Given the description of an element on the screen output the (x, y) to click on. 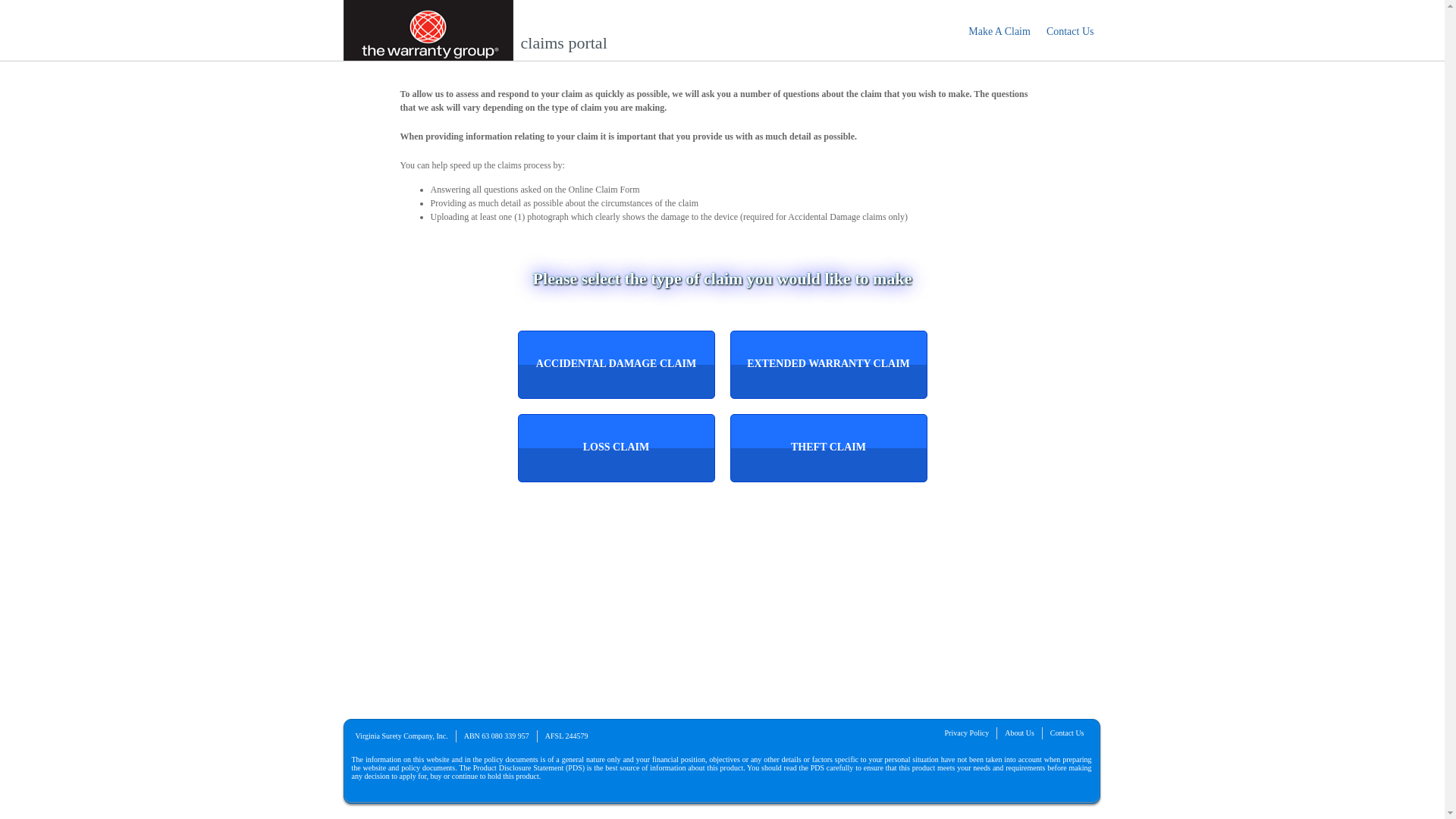
Theft Claim Element type: text (827, 448)
Extended Warranty Claim Element type: text (827, 364)
About Us Element type: text (1019, 732)
Accidental Damage Claim Element type: text (615, 364)
Loss Claim Element type: text (615, 448)
Contact Us Element type: text (1069, 31)
Contact Us Element type: text (1067, 732)
Privacy Policy Element type: text (966, 732)
Make A Claim Element type: text (999, 31)
